Given the description of an element on the screen output the (x, y) to click on. 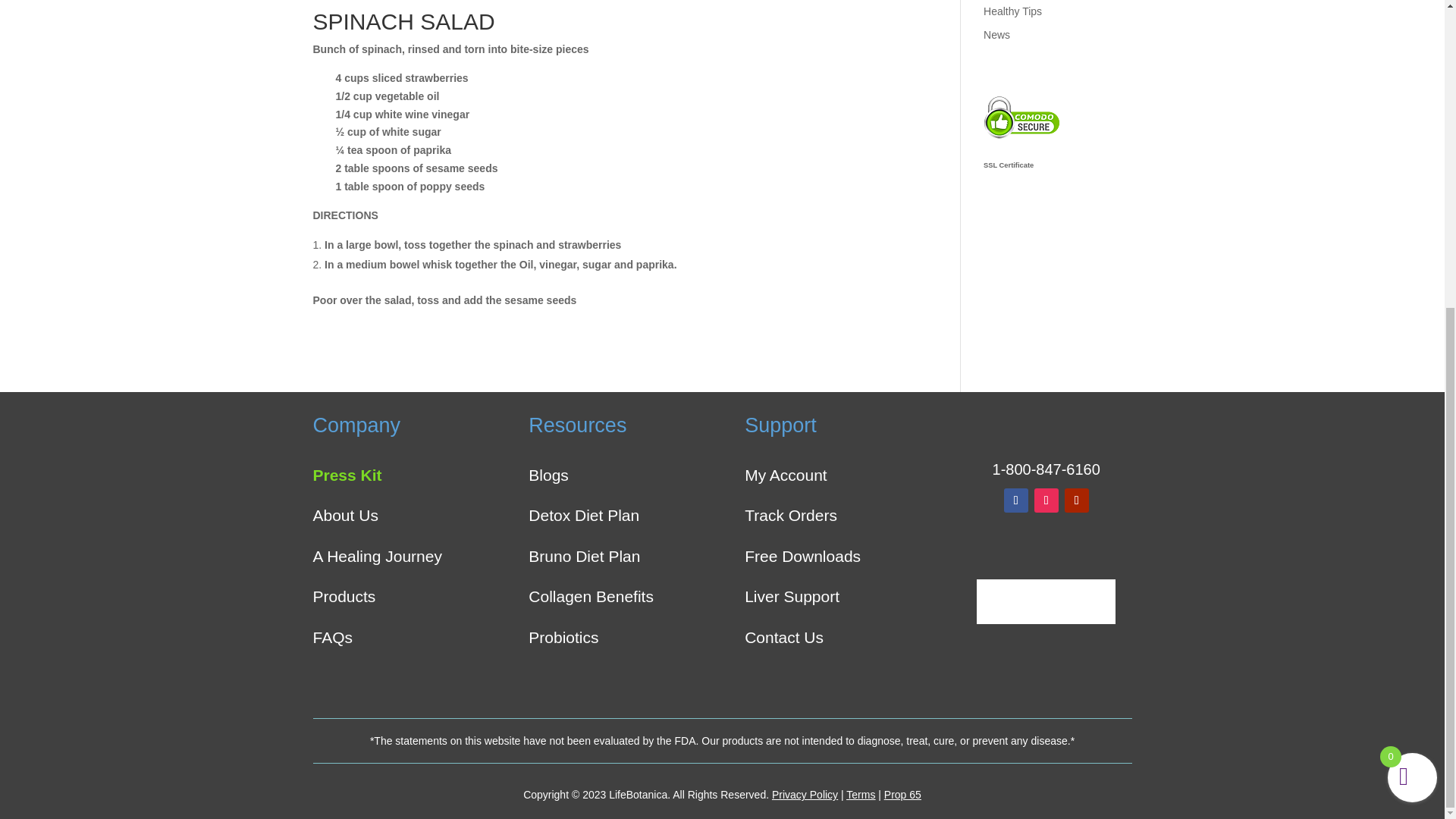
SSL Certificate (1021, 154)
Privacy Policy (804, 794)
Follow on Instagram (1045, 500)
Follow on Youtube (1076, 500)
Threshold Enterprises Distribution (1045, 601)
Follow on Facebook (1015, 500)
logo (1045, 426)
Healthy Tips (1013, 10)
News (997, 33)
